Given the description of an element on the screen output the (x, y) to click on. 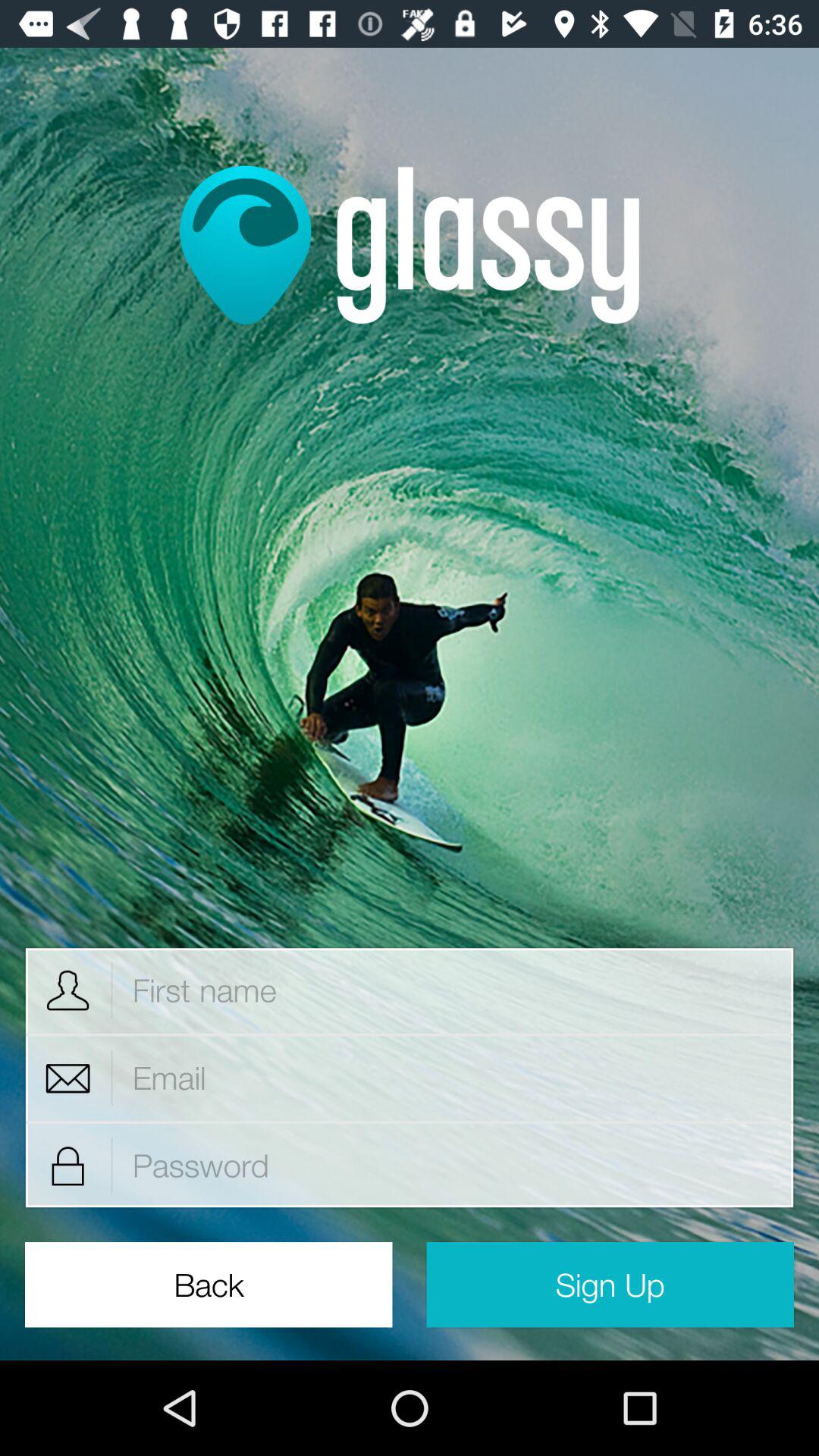
press the icon to the right of back (609, 1284)
